Given the description of an element on the screen output the (x, y) to click on. 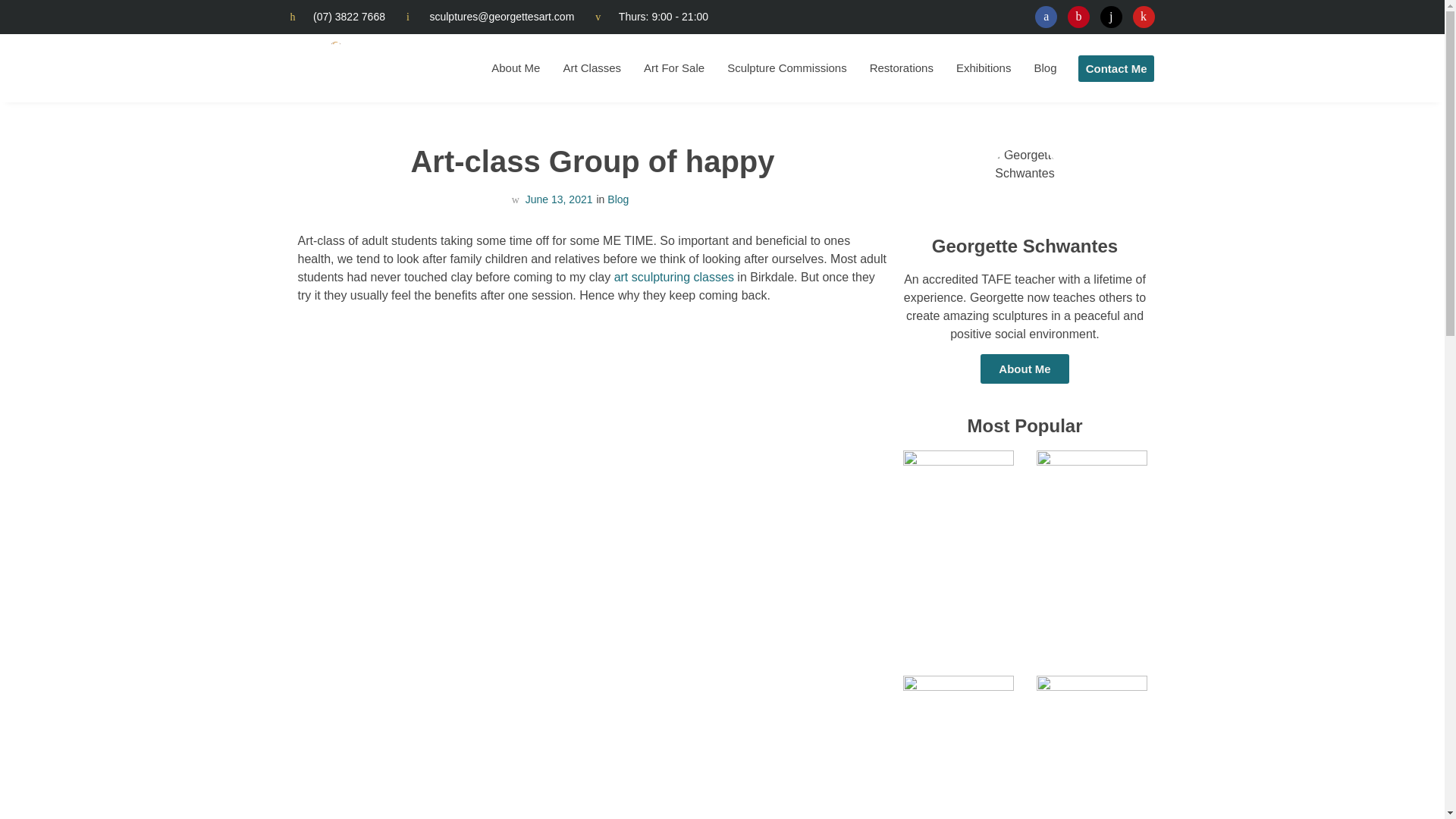
Blog (617, 199)
Art Classes (591, 67)
art sculpturing classes (673, 277)
Contact Me (1116, 67)
Art For Sale (673, 67)
Sculpture Commissions (787, 67)
About Me (1023, 368)
June 13, 2021 (550, 199)
Restorations (901, 67)
Exhibitions (983, 67)
